Given the description of an element on the screen output the (x, y) to click on. 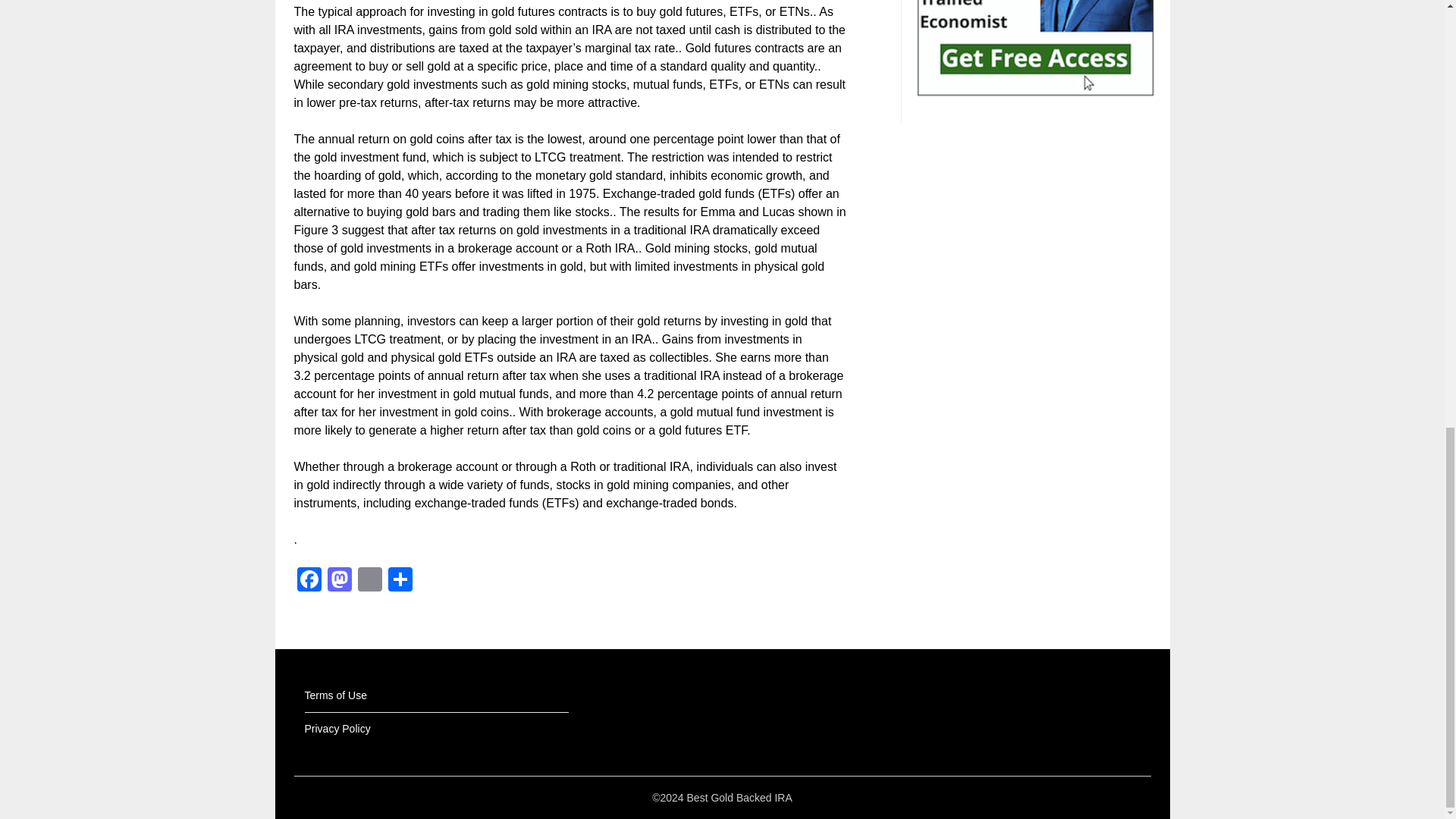
Share (399, 581)
Mastodon (339, 581)
Facebook (309, 581)
Mastodon (339, 581)
Email (370, 581)
Facebook (309, 581)
Email (370, 581)
Privacy Policy (337, 728)
Terms of Use (335, 695)
